Given the description of an element on the screen output the (x, y) to click on. 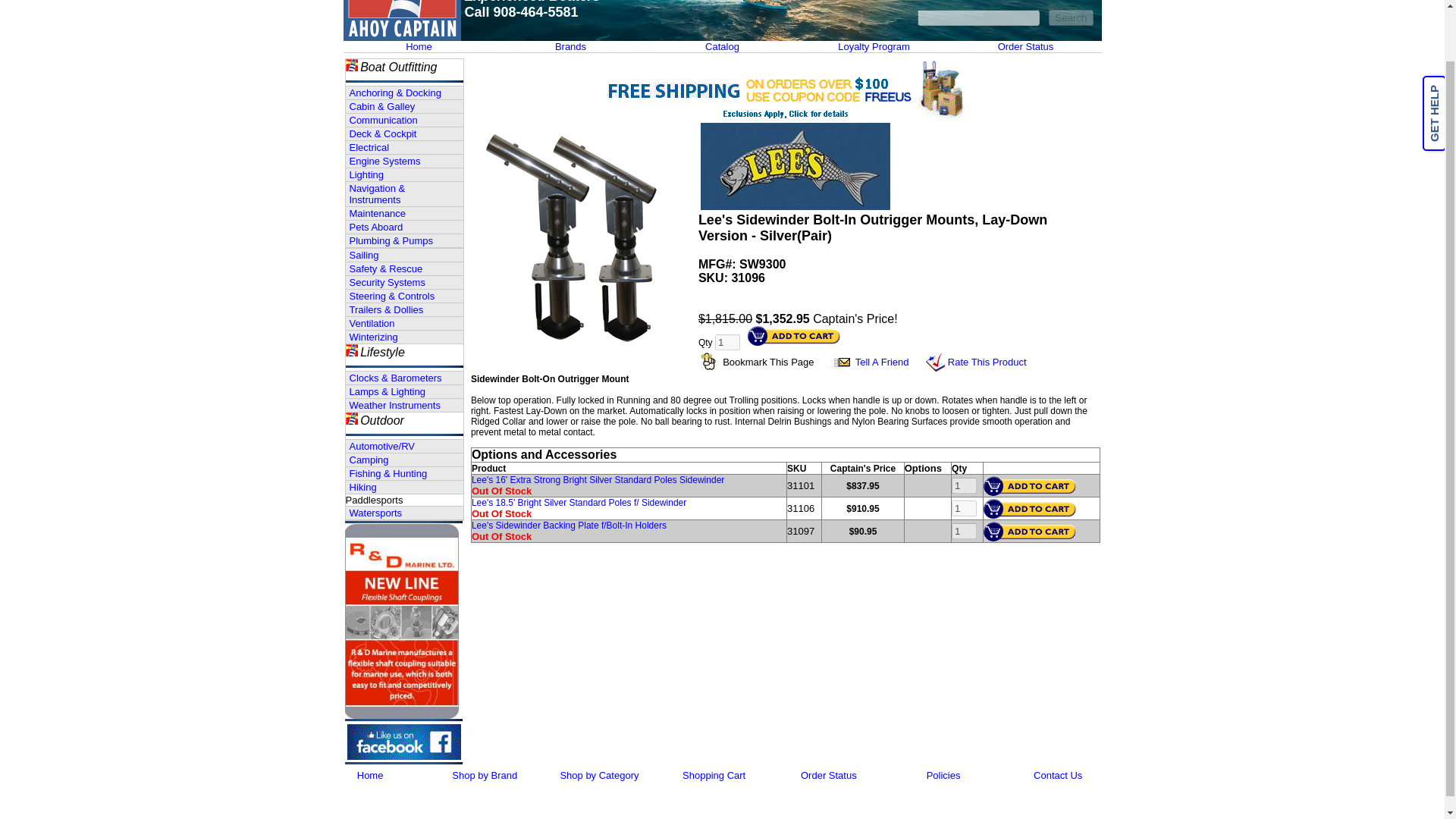
Communication (404, 119)
1 (964, 508)
1 (726, 342)
1 (964, 530)
Search (1070, 17)
Electrical (404, 146)
1 (964, 485)
Maintenance (404, 213)
Order Status (1024, 46)
Call 908-464-5581 (521, 11)
